Given the description of an element on the screen output the (x, y) to click on. 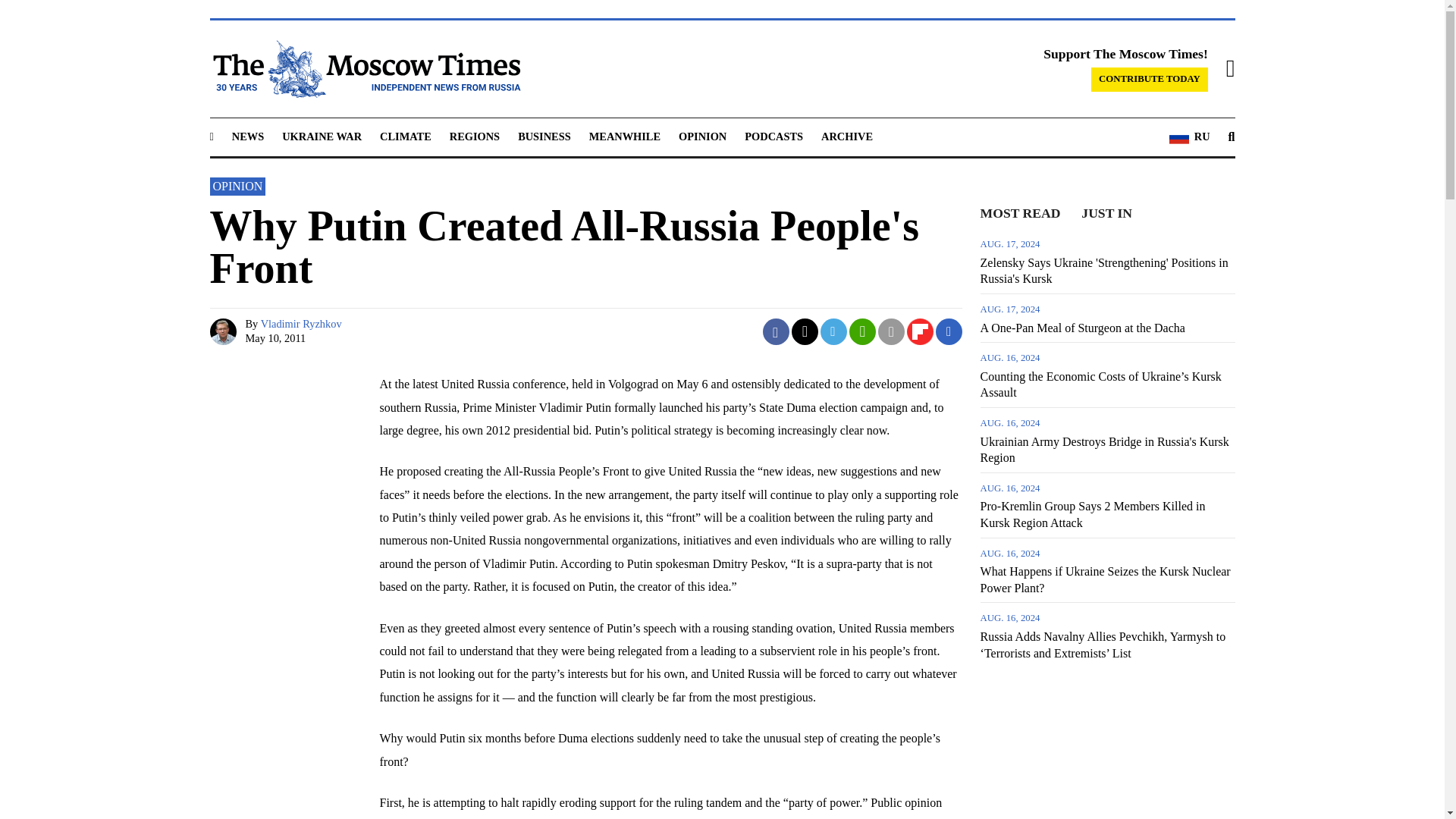
Share on Facebook (775, 331)
UKRAINE WAR (321, 136)
ARCHIVE (846, 136)
MEANWHILE (625, 136)
PODCASTS (773, 136)
Share on Telegram (834, 331)
REGIONS (474, 136)
The Moscow Times - Independent News from Russia (364, 68)
BUSINESS (544, 136)
OPINION (702, 136)
